Given the description of an element on the screen output the (x, y) to click on. 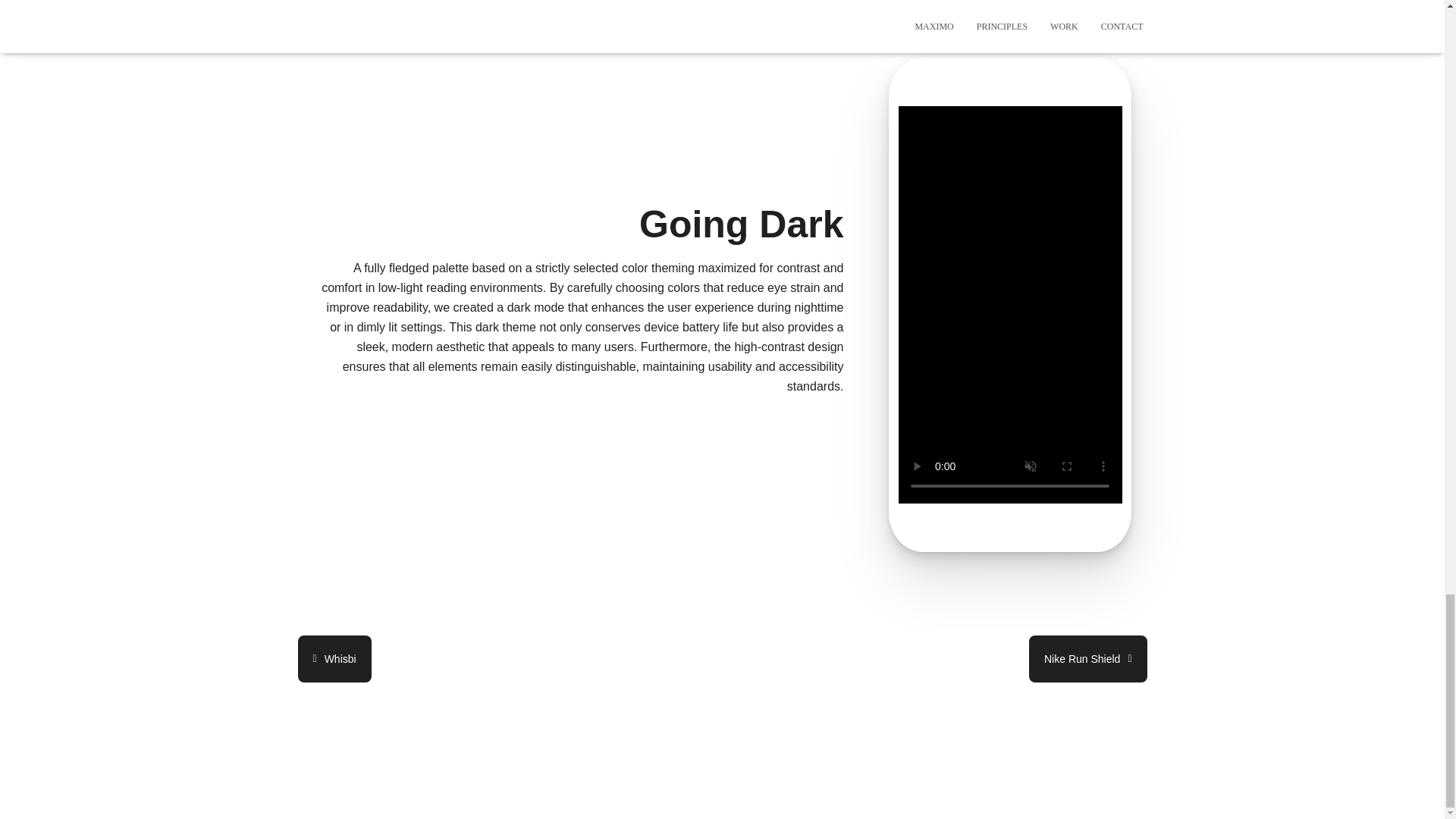
Whisbi (334, 659)
Nike Run Shield (1088, 659)
